Given the description of an element on the screen output the (x, y) to click on. 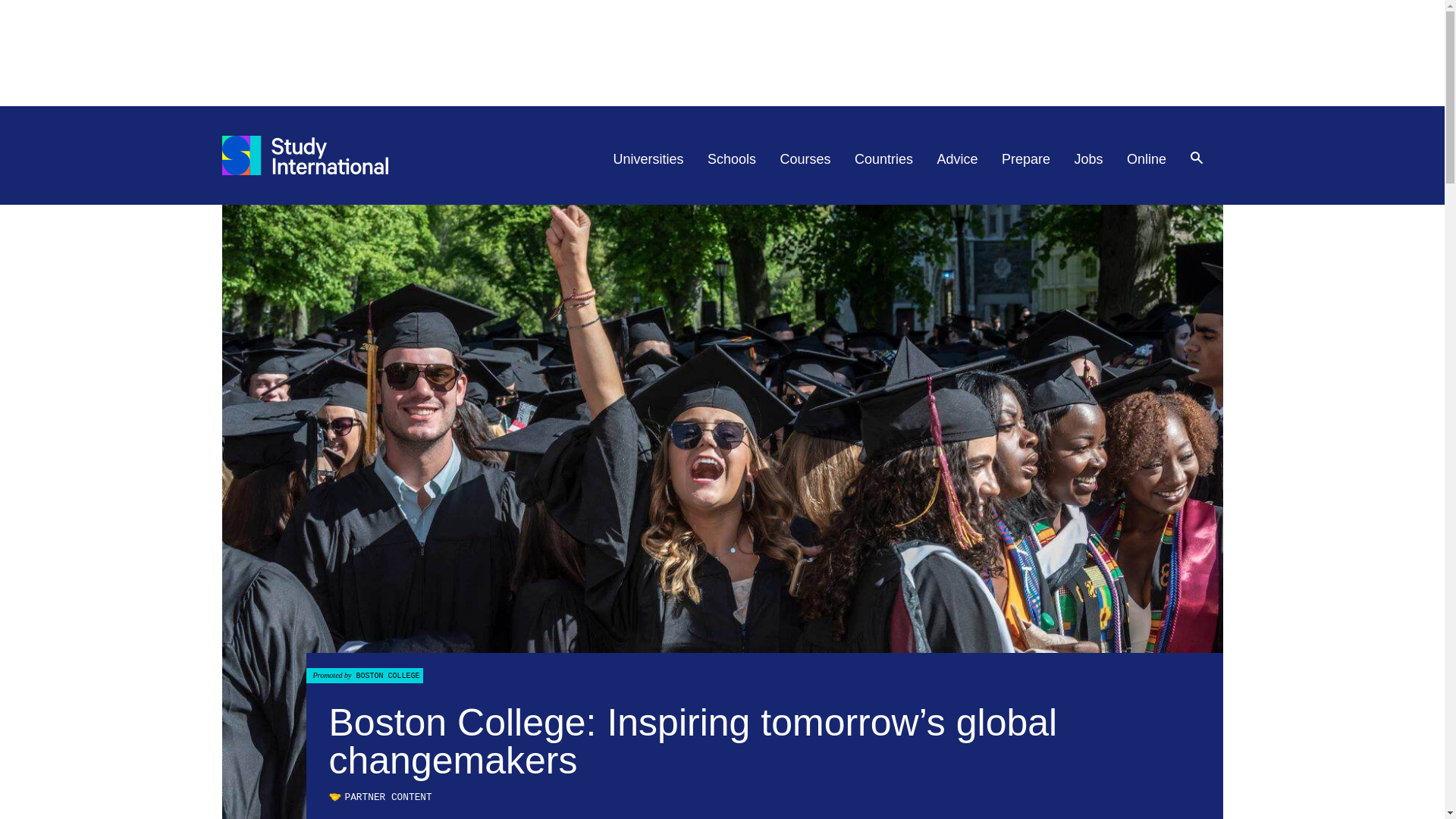
Countries (883, 159)
Online (1146, 159)
Advice (957, 159)
Schools (731, 159)
Universities (648, 159)
Courses (805, 159)
Prepare (1025, 159)
Jobs (1088, 159)
